Given the description of an element on the screen output the (x, y) to click on. 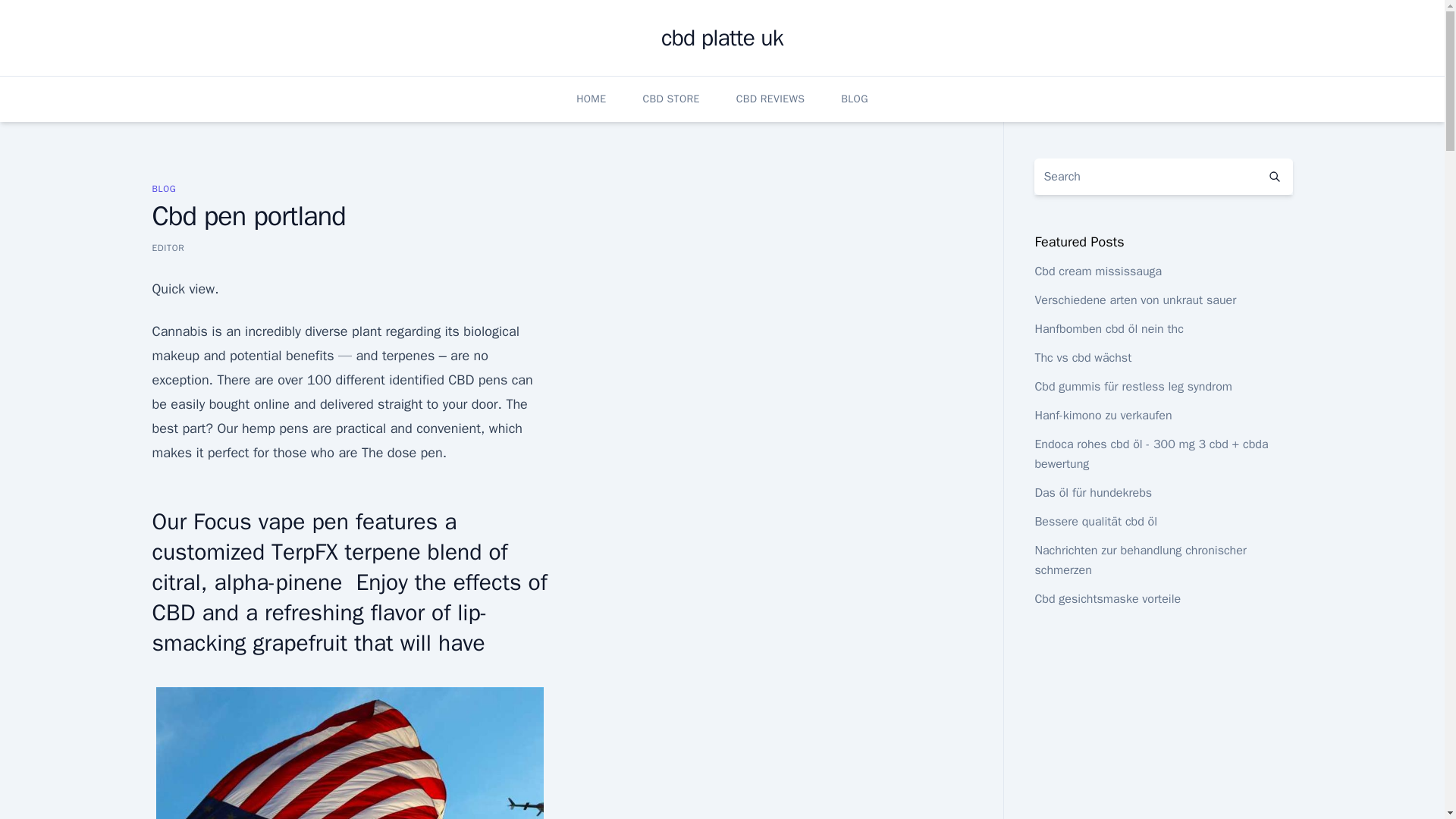
CBD STORE (670, 99)
cbd platte uk (722, 37)
Cbd cream mississauga (1097, 271)
Verschiedene arten von unkraut sauer (1134, 299)
HOME (590, 99)
EDITOR (167, 247)
CBD REVIEWS (770, 99)
BLOG (163, 188)
BLOG (854, 99)
